Given the description of an element on the screen output the (x, y) to click on. 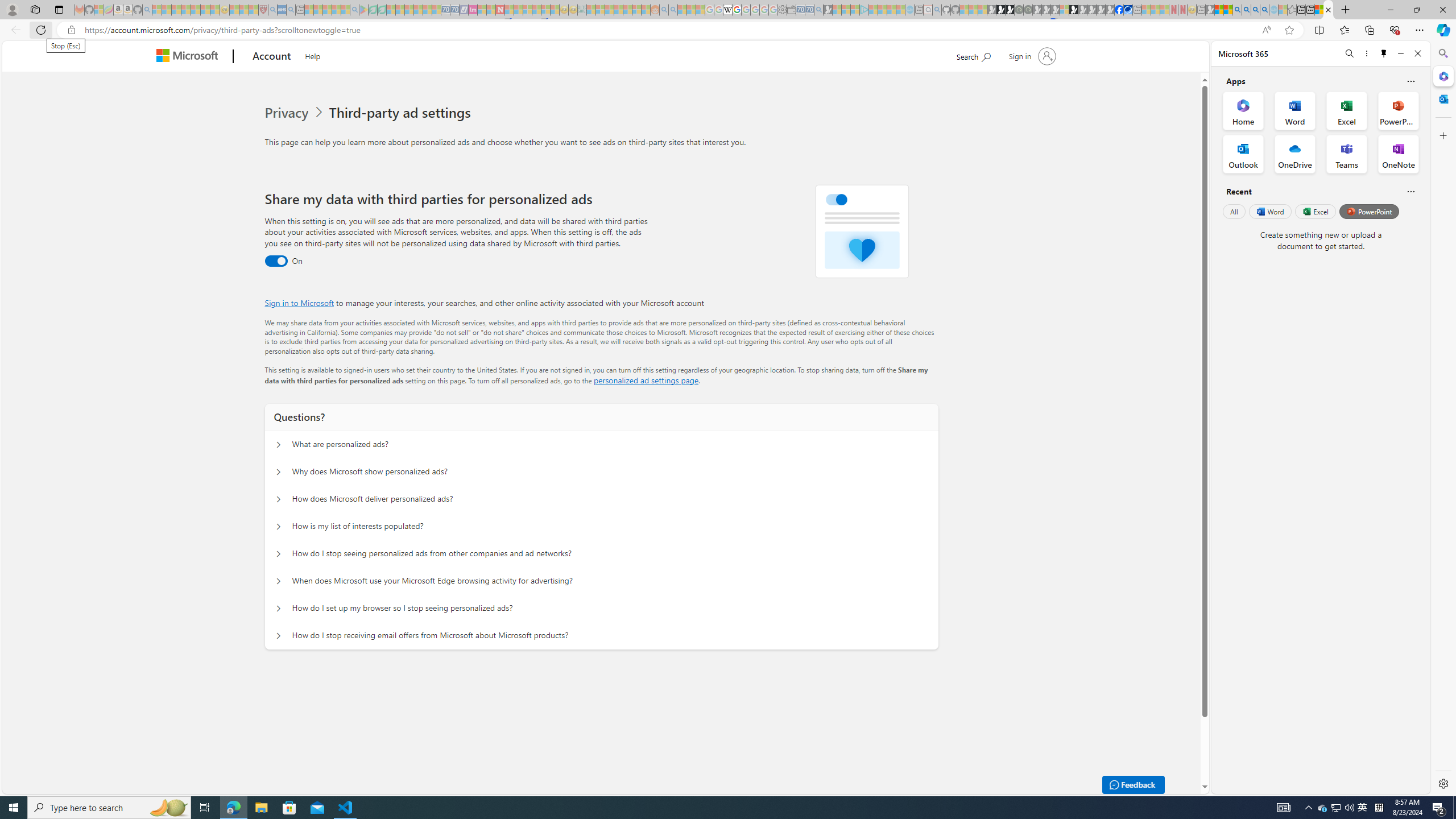
Close Customize pane (1442, 135)
Home | Sky Blue Bikes - Sky Blue Bikes - Sleeping (908, 9)
